Given the description of an element on the screen output the (x, y) to click on. 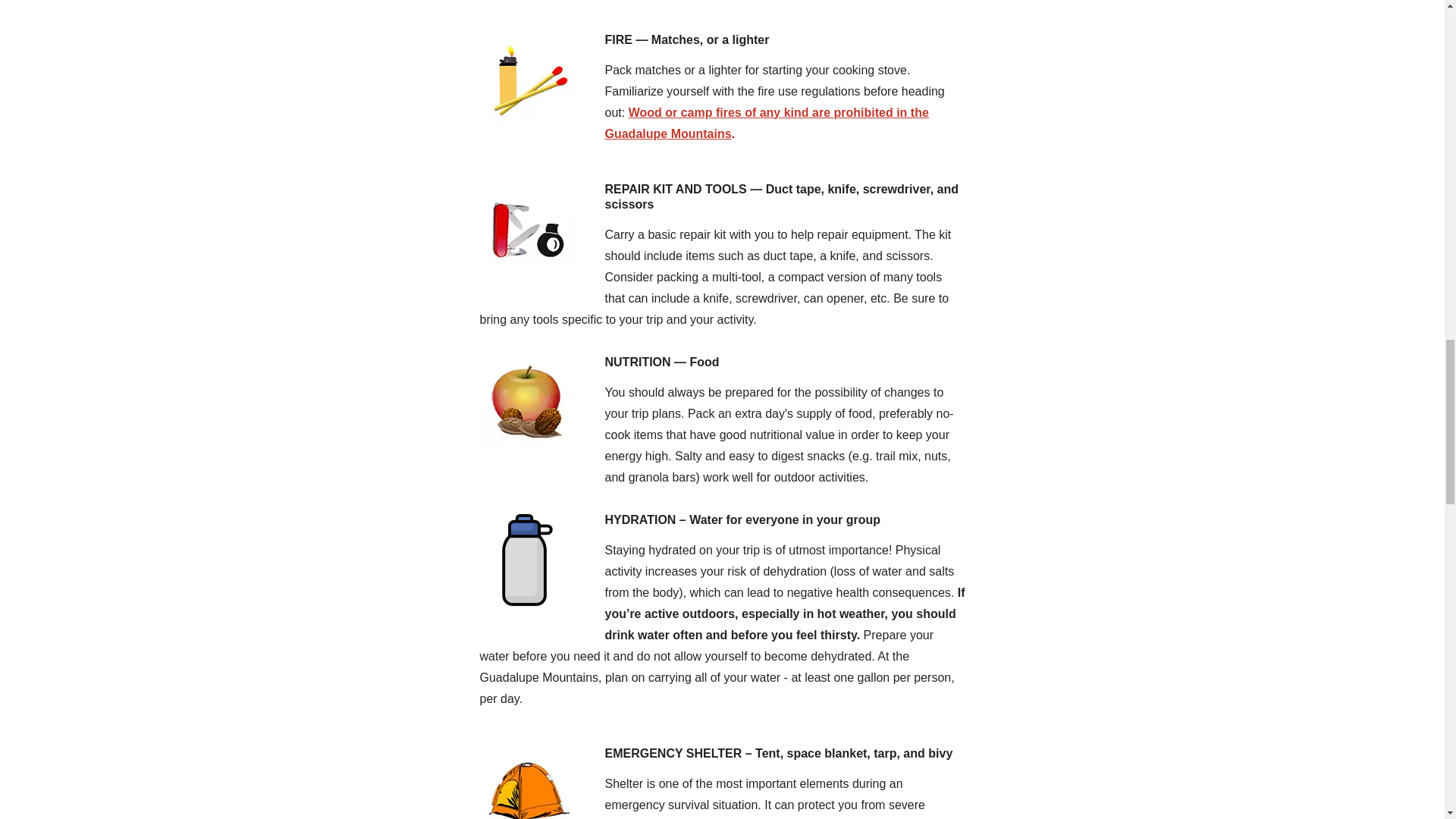
Water Bottle (526, 559)
Emergency Shelter: Illustration of a tent (526, 782)
Nutrition- Illustration of an apple and variety of nuts (526, 401)
Fire- Illustration of a lighter and pair of matches (526, 78)
